Given the description of an element on the screen output the (x, y) to click on. 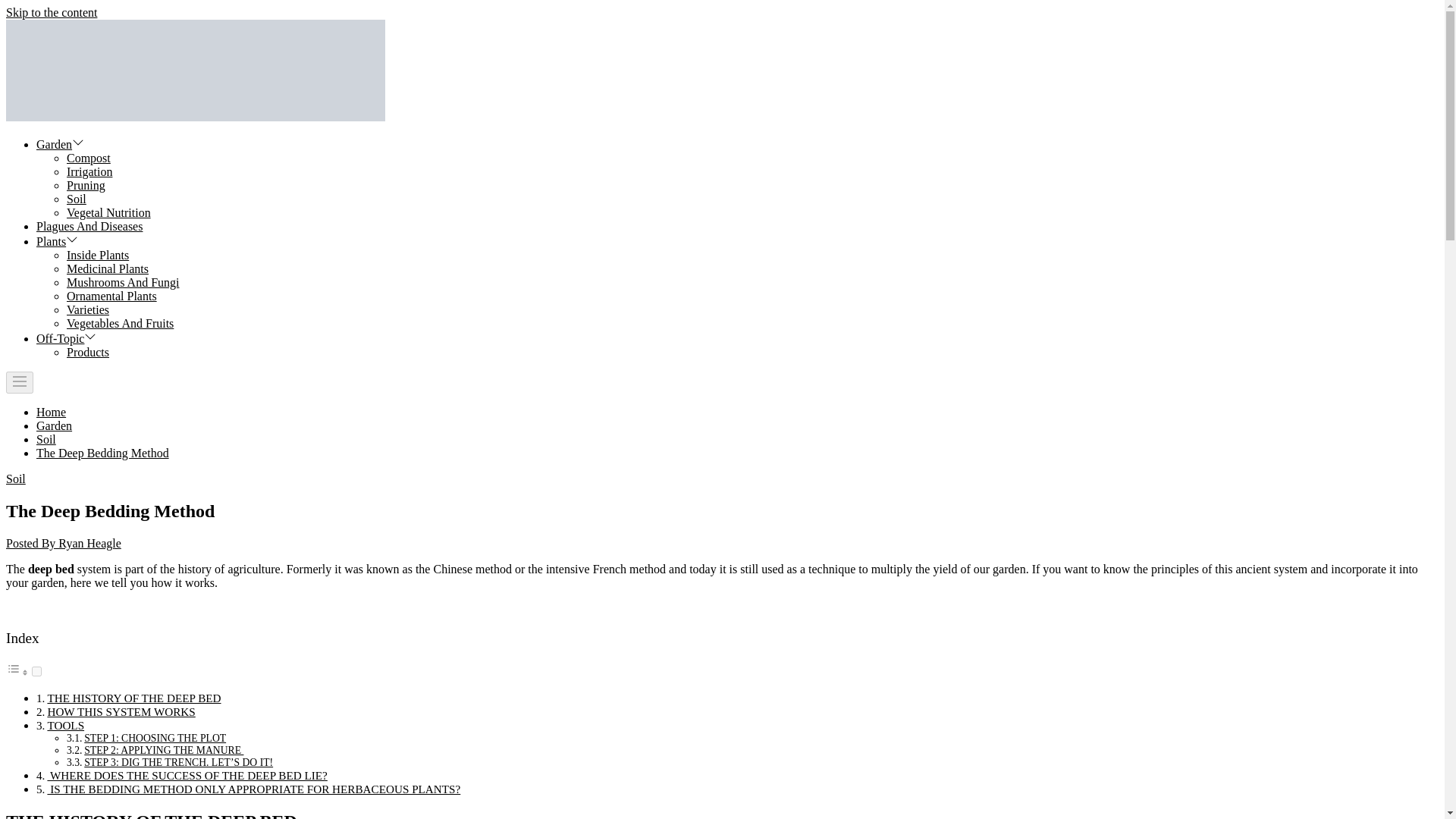
Soil (46, 439)
HOW THIS SYSTEM WORKS (120, 711)
Varieties (87, 309)
Plagues And Diseases (89, 226)
STEP 2: APPLYING THE MANURE  (163, 749)
Ornamental Plants (111, 295)
STEP 1: CHOOSING THE PLOT (154, 737)
Medicinal Plants (107, 268)
 WHERE DOES THE SUCCESS OF THE DEEP BED LIE? (186, 775)
